Given the description of an element on the screen output the (x, y) to click on. 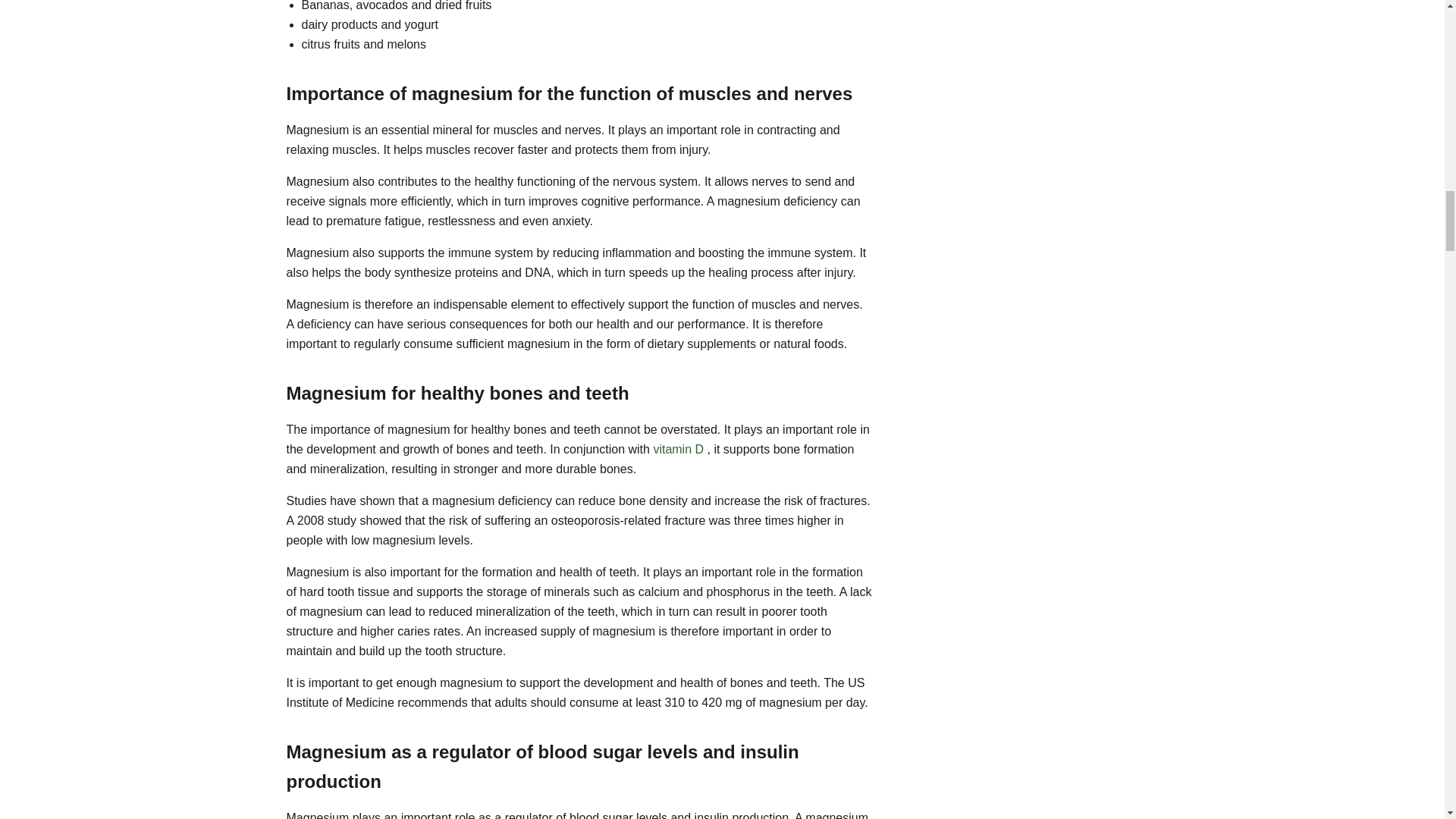
Vitamin D (677, 449)
